Given the description of an element on the screen output the (x, y) to click on. 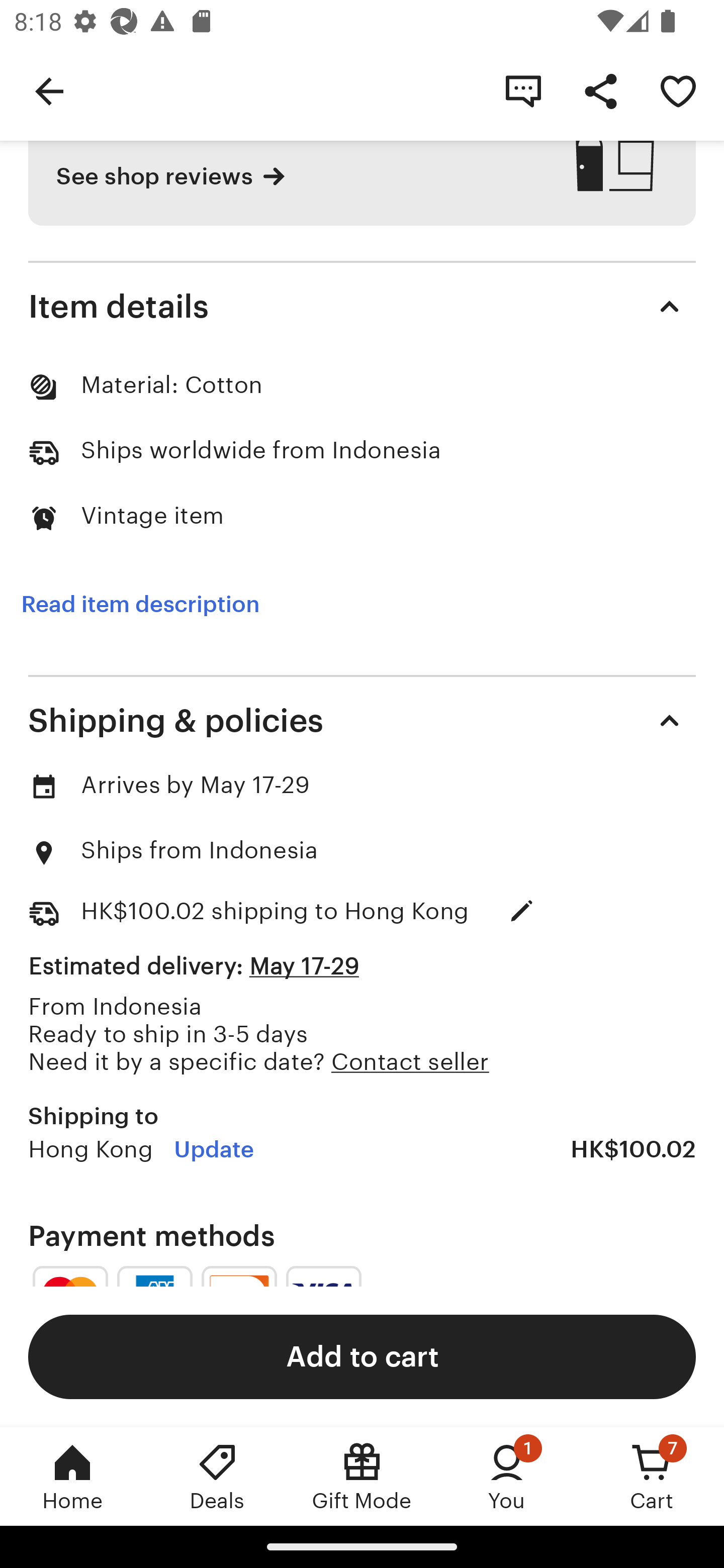
Navigate up (49, 90)
Contact shop (523, 90)
Share (600, 90)
Item details (362, 306)
Read item description (140, 604)
Shipping & policies (362, 720)
Update (521, 910)
Update (213, 1149)
Add to cart (361, 1355)
Deals (216, 1475)
Gift Mode (361, 1475)
You, 1 new notification You (506, 1475)
Cart, 7 new notifications Cart (651, 1475)
